Given the description of an element on the screen output the (x, y) to click on. 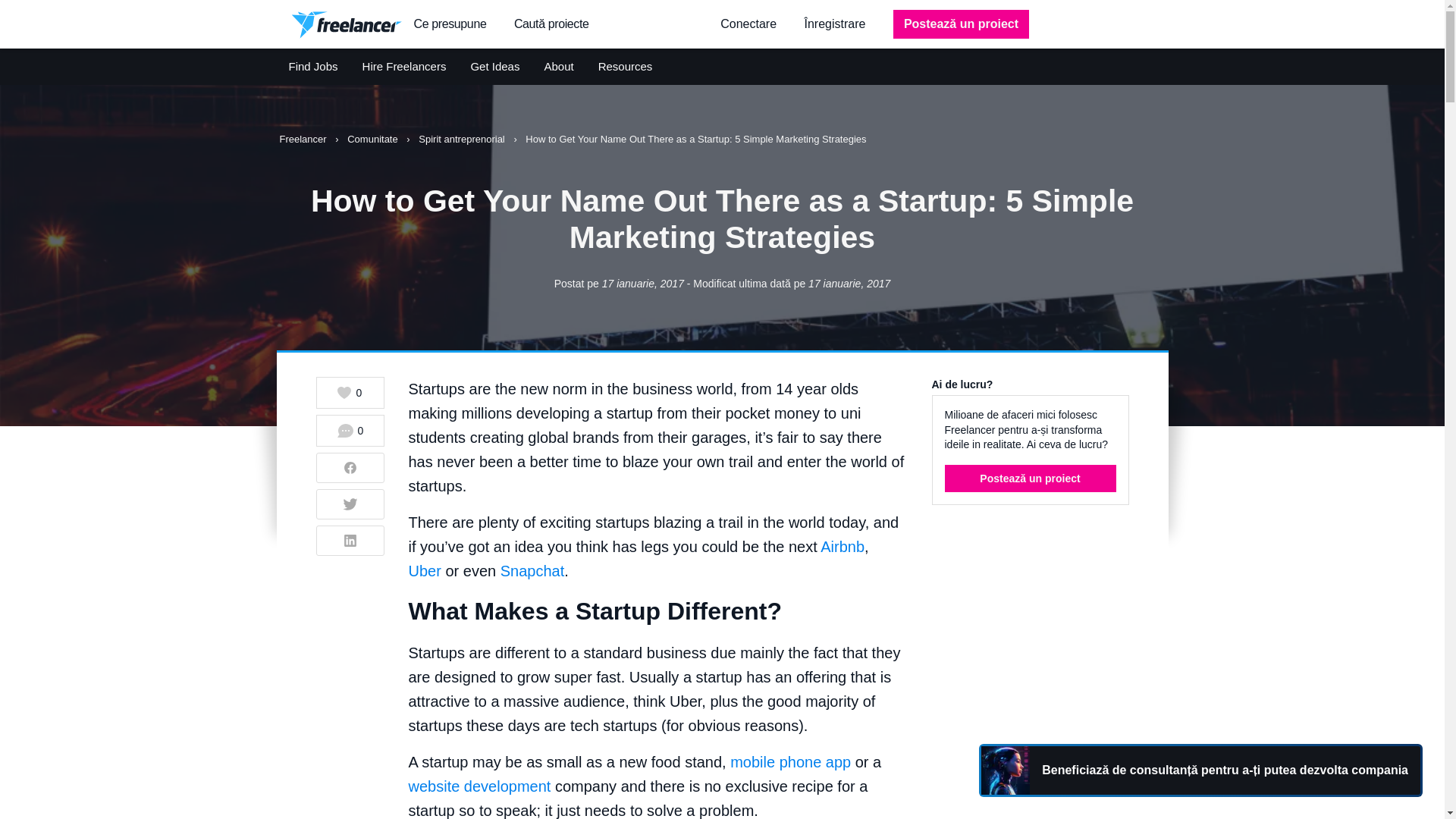
Airbnb (842, 546)
Find Jobs (312, 66)
Ce presupune (449, 24)
Snapchat (532, 570)
Resources (625, 66)
mobile phone app (790, 761)
Comunitate (373, 138)
0 (349, 430)
Freelancer (304, 138)
Hire Freelancers (404, 66)
Uber (424, 570)
website development (478, 786)
Spirit antreprenorial (462, 138)
Voturile utilizatorilor (348, 393)
